Given the description of an element on the screen output the (x, y) to click on. 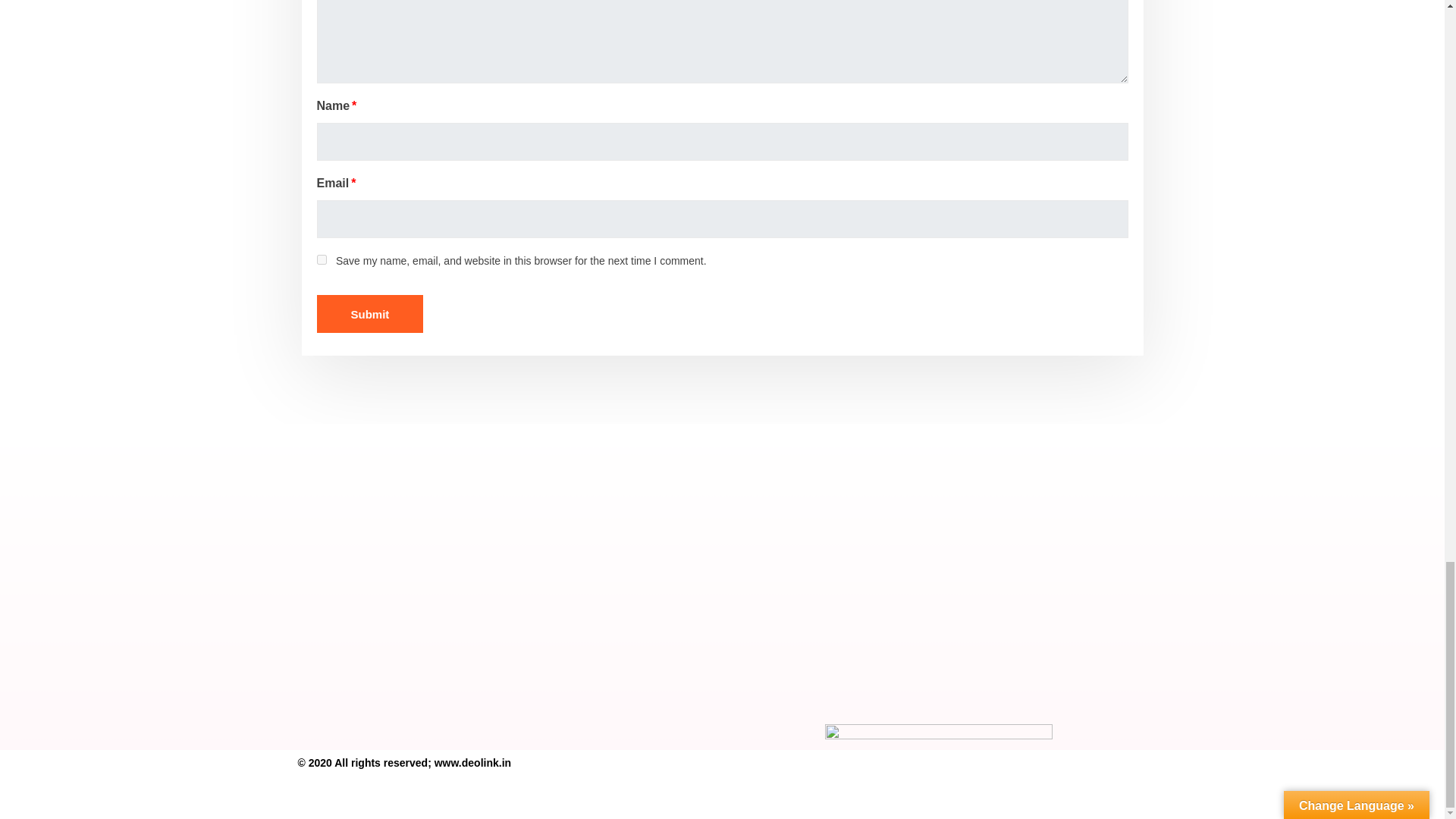
yes (321, 259)
Submit (370, 313)
Submit (370, 313)
